Given the description of an element on the screen output the (x, y) to click on. 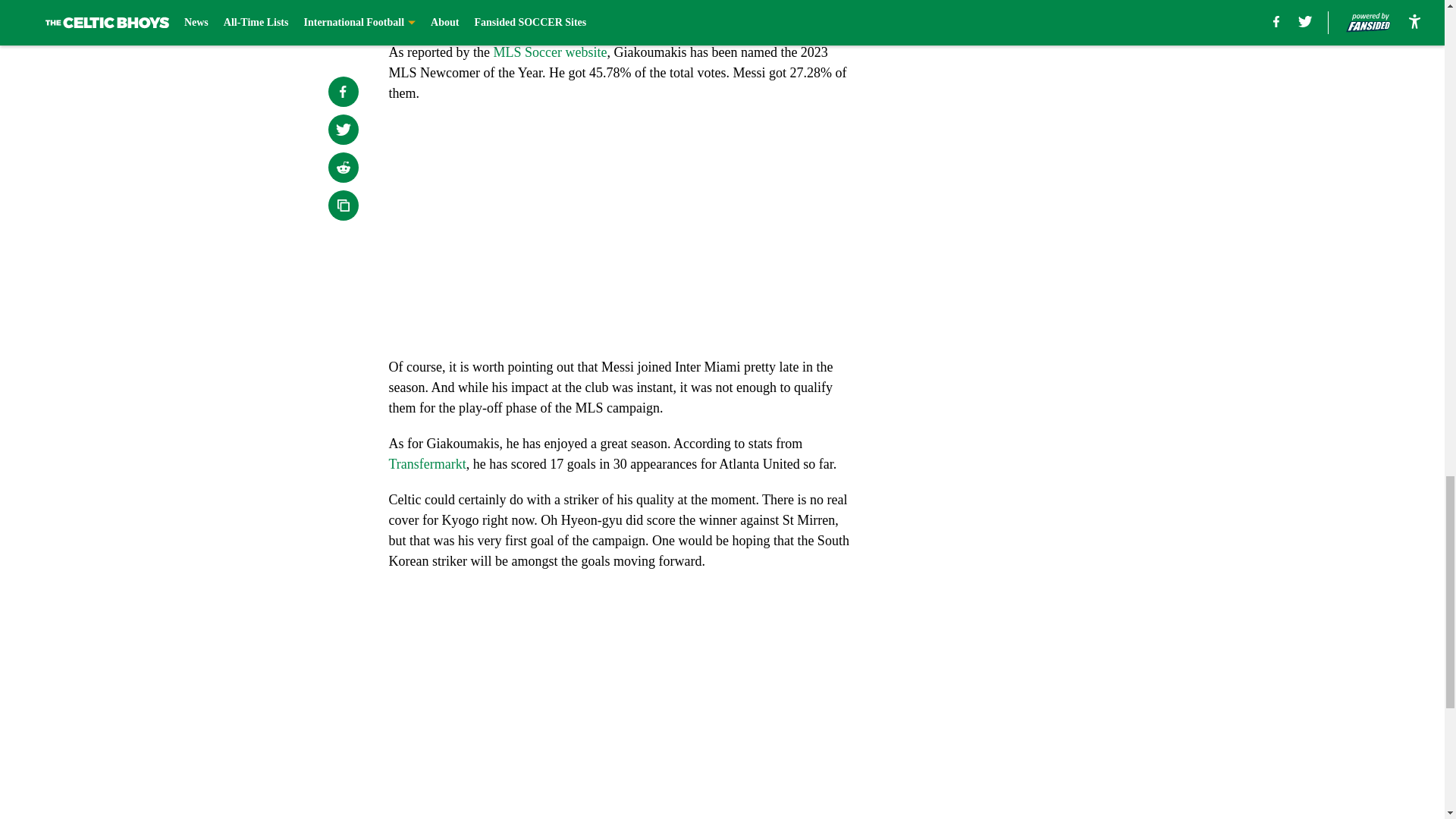
Transfermarkt (426, 463)
MLS Soccer website (550, 52)
